Given the description of an element on the screen output the (x, y) to click on. 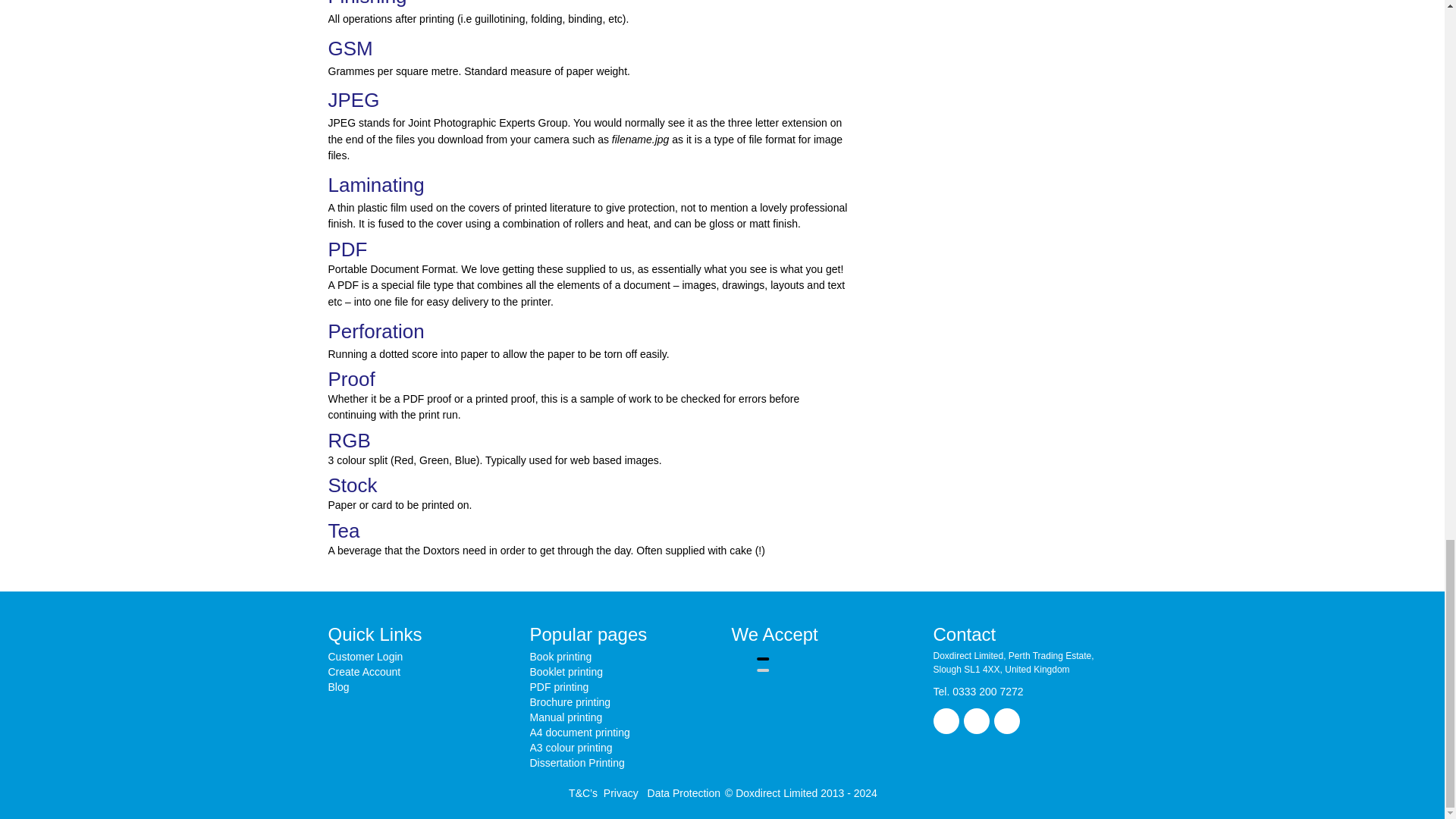
twitter (975, 720)
instagram (1005, 720)
Email us (945, 720)
Customer Login (365, 656)
